Given the description of an element on the screen output the (x, y) to click on. 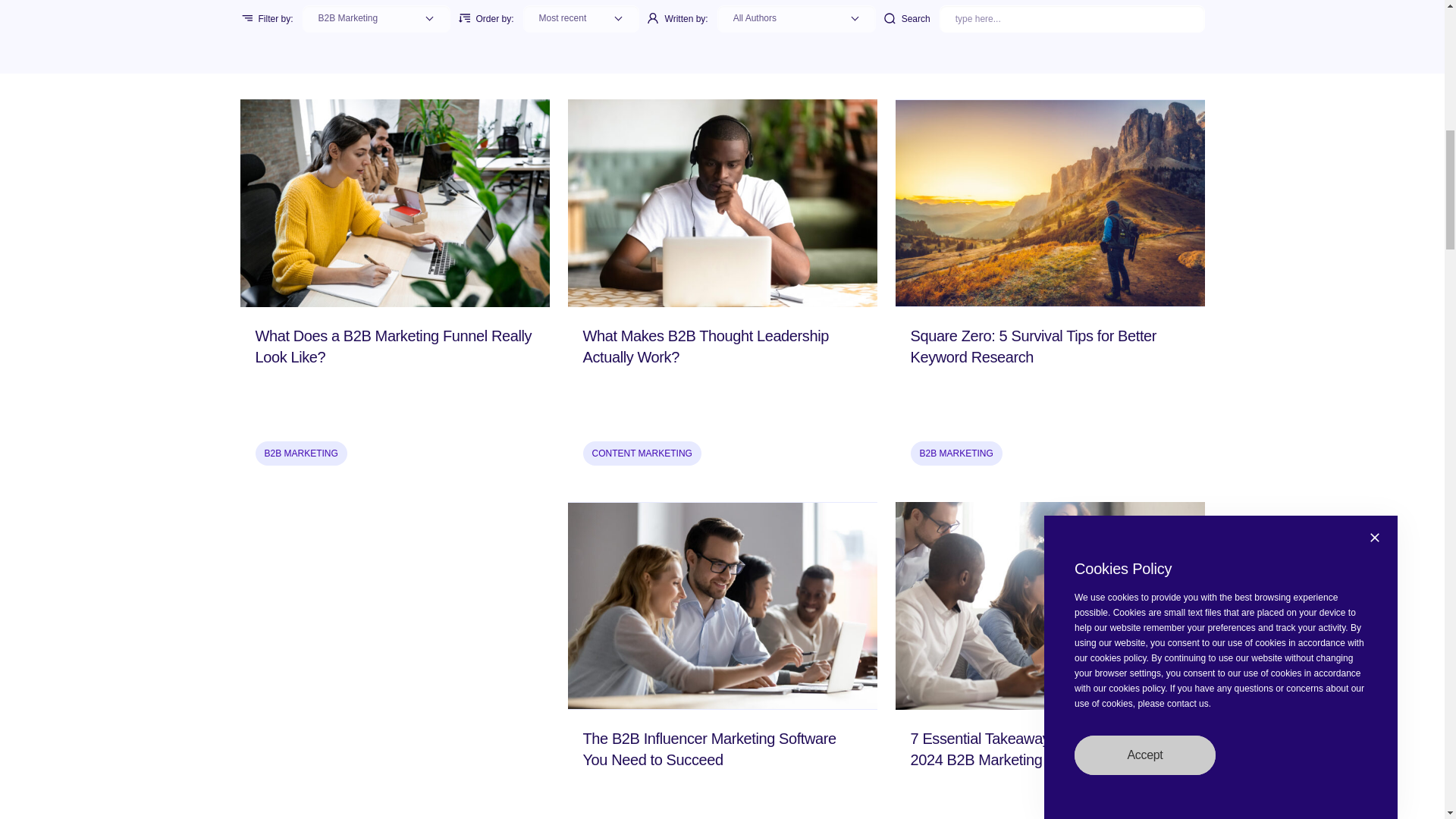
Search (1072, 18)
